Given the description of an element on the screen output the (x, y) to click on. 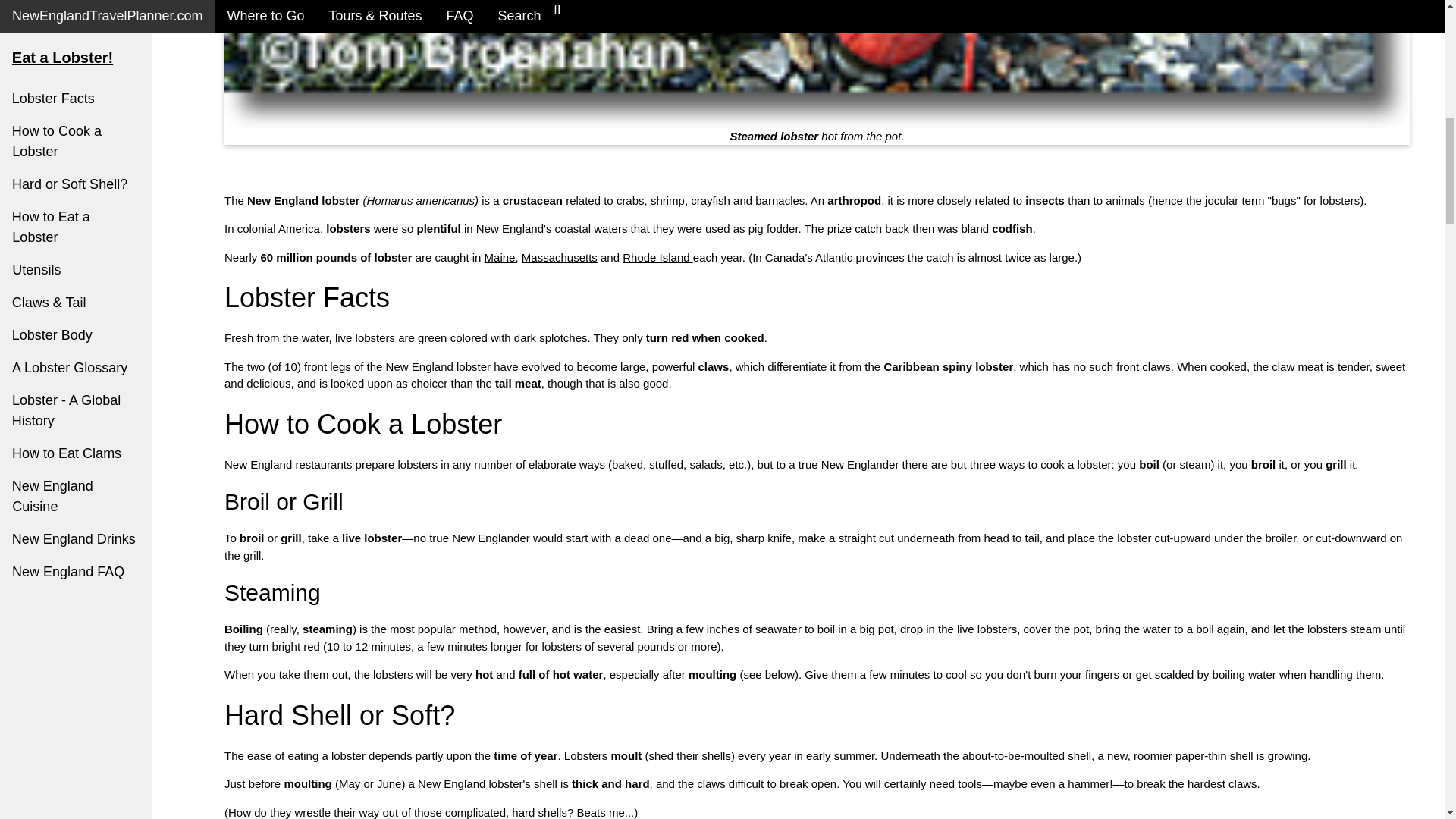
arthropod (853, 200)
Rhode Island (658, 256)
Massachusetts (558, 256)
Maine, (501, 256)
